Given the description of an element on the screen output the (x, y) to click on. 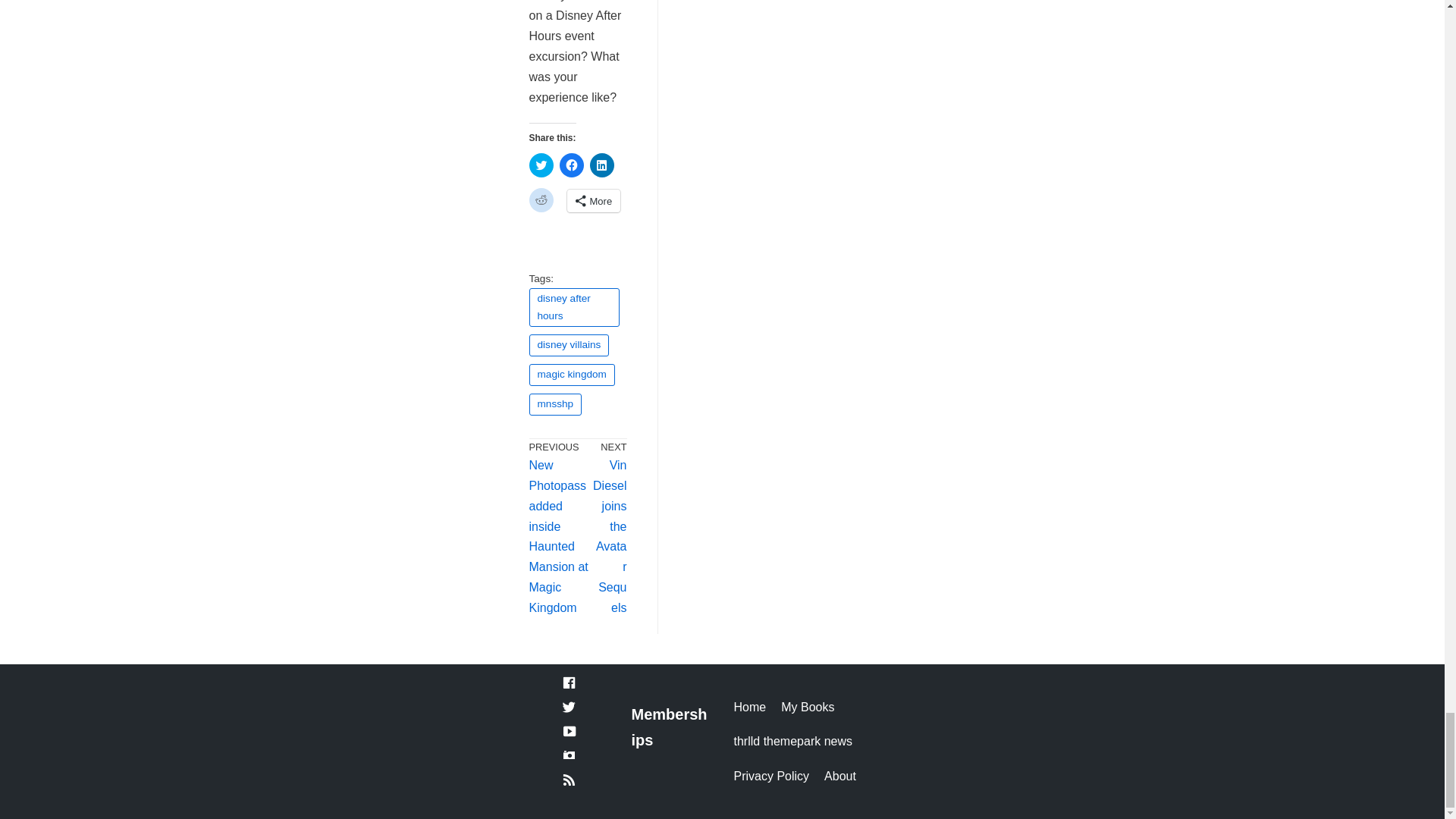
Click to share on LinkedIn (601, 165)
Themeparks and beyond! (793, 741)
More (594, 200)
disney villains (569, 345)
mnsshp (555, 404)
disney after hours (574, 307)
magic kingdom (571, 374)
Click to share on Reddit (541, 200)
Click to share on Facebook (571, 165)
Click to share on Twitter (541, 165)
